Given the description of an element on the screen output the (x, y) to click on. 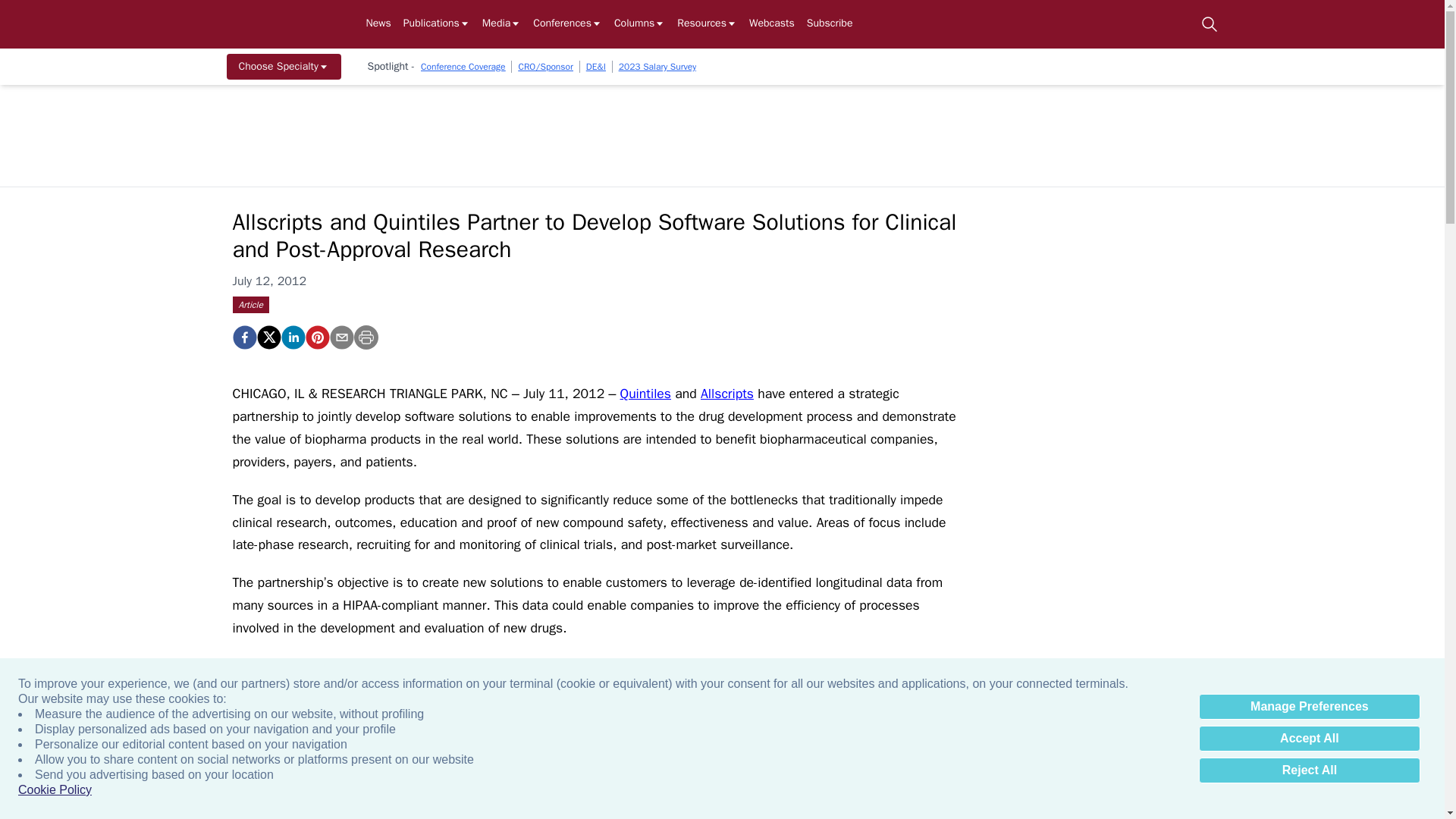
Webcasts (771, 23)
Resources (706, 23)
Cookie Policy (54, 789)
Columns (639, 23)
Publications (436, 23)
Accept All (1309, 738)
Media (501, 23)
News (377, 23)
Subscribe (829, 23)
Choose Specialty (282, 66)
Conferences (567, 23)
Manage Preferences (1309, 706)
Reject All (1309, 769)
